Given the description of an element on the screen output the (x, y) to click on. 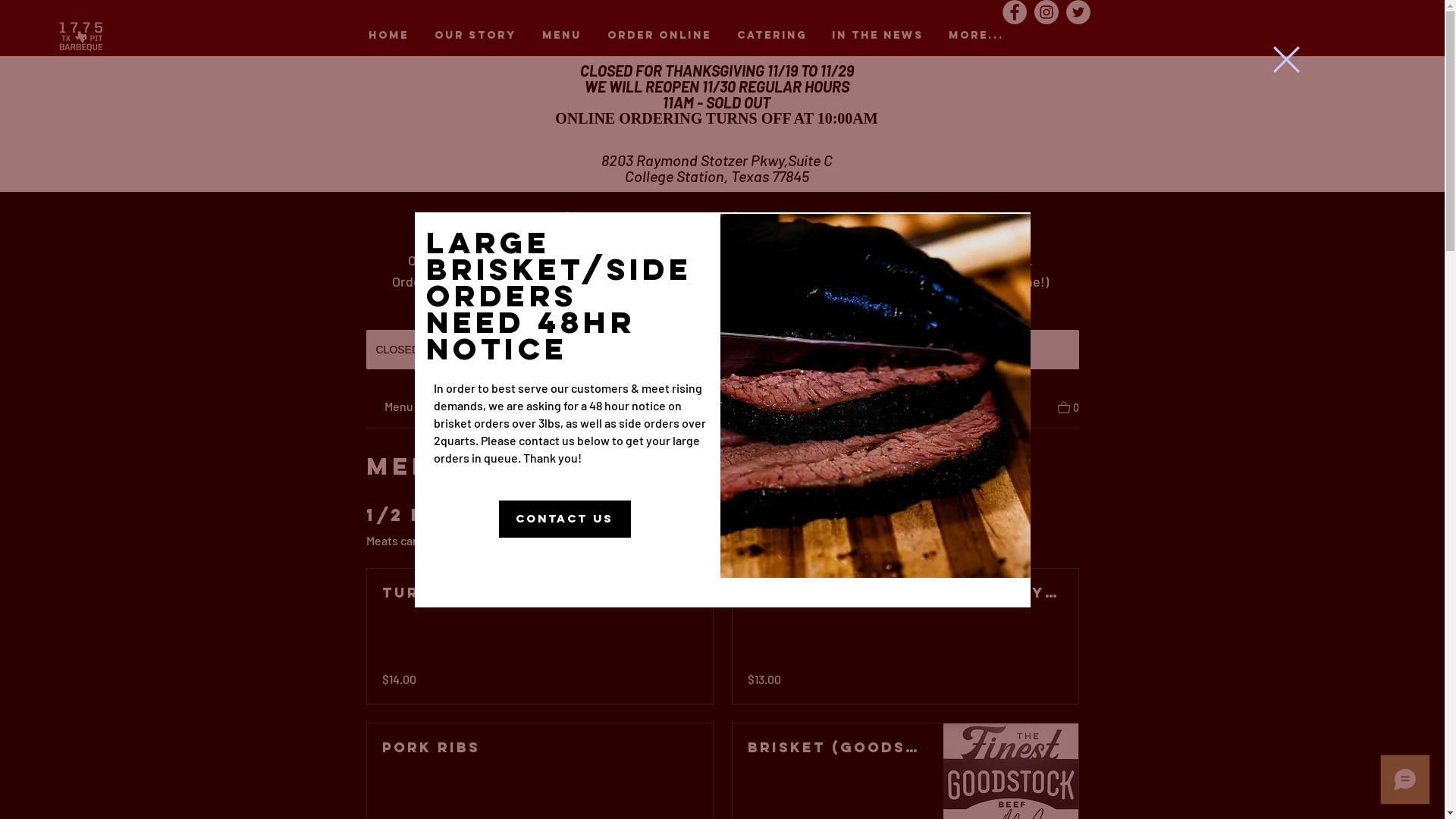
Pork Ribs Element type: text (539, 747)
IN THE NEWS Element type: text (877, 35)
CATERING Element type: text (771, 35)
0 Element type: text (1067, 406)
OUR STORY Element type: text (475, 35)
HOME Element type: text (387, 35)
Back to site Element type: hover (1285, 59)
Brisket (Goodstock Black Label) Element type: text (837, 747)
Sausage (Premium Czech-style Smoked) Element type: text (905, 592)
Menu Element type: text (463, 406)
Turkey Breast (Slow-Smoked) Element type: text (539, 592)
ORDER ONLINE Element type: text (659, 35)
CONTACT US Element type: text (564, 518)
MENU Element type: text (561, 35)
